Given the description of an element on the screen output the (x, y) to click on. 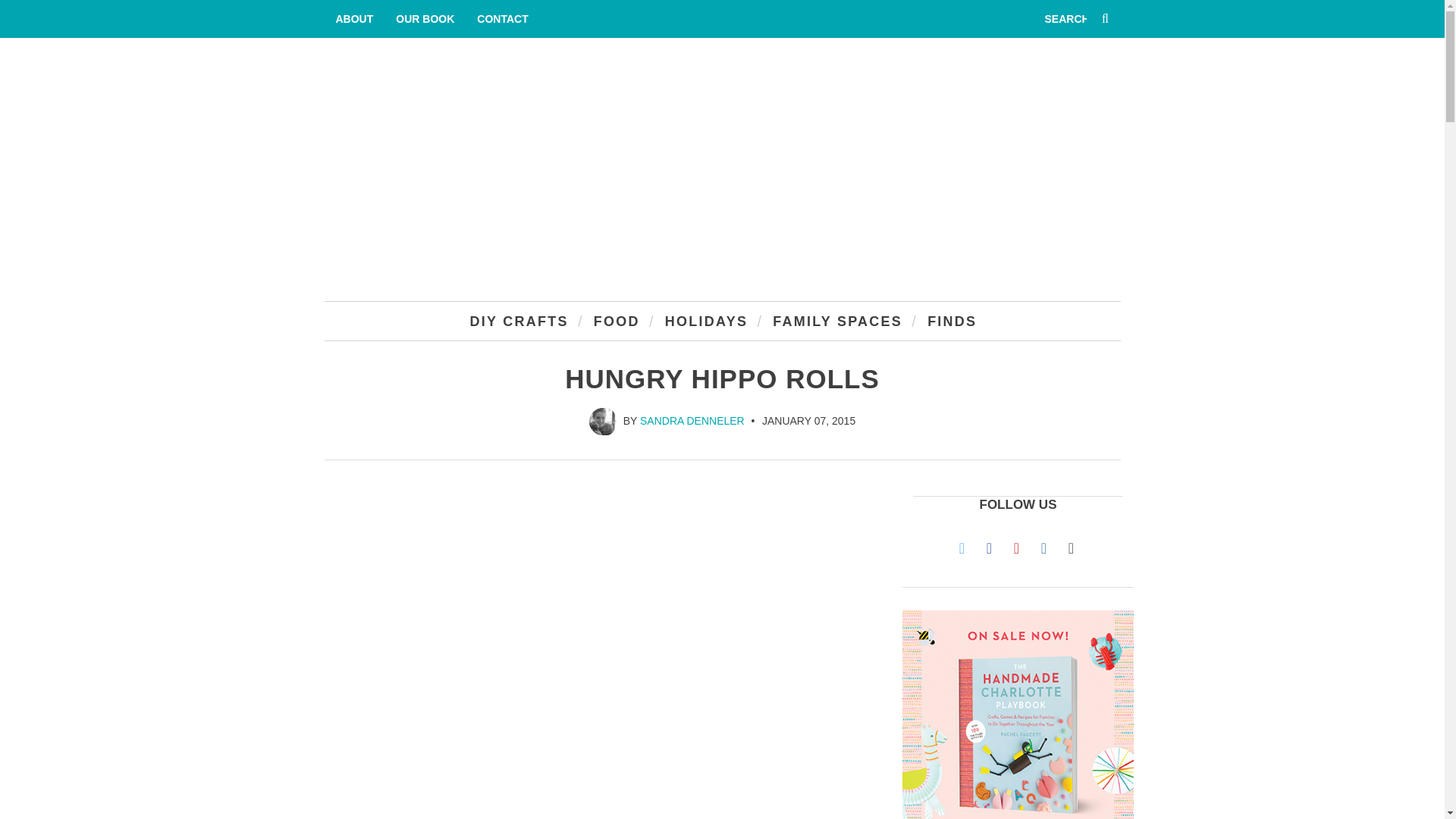
Family Spaces (836, 318)
FAMILY SPACES (836, 318)
CONTACT (501, 18)
DIY CRAFTS (518, 318)
OUR BOOK (424, 18)
FOOD (615, 318)
Search (1065, 18)
FINDS (950, 318)
SANDRA DENNELER (692, 420)
ABOUT (354, 18)
